Given the description of an element on the screen output the (x, y) to click on. 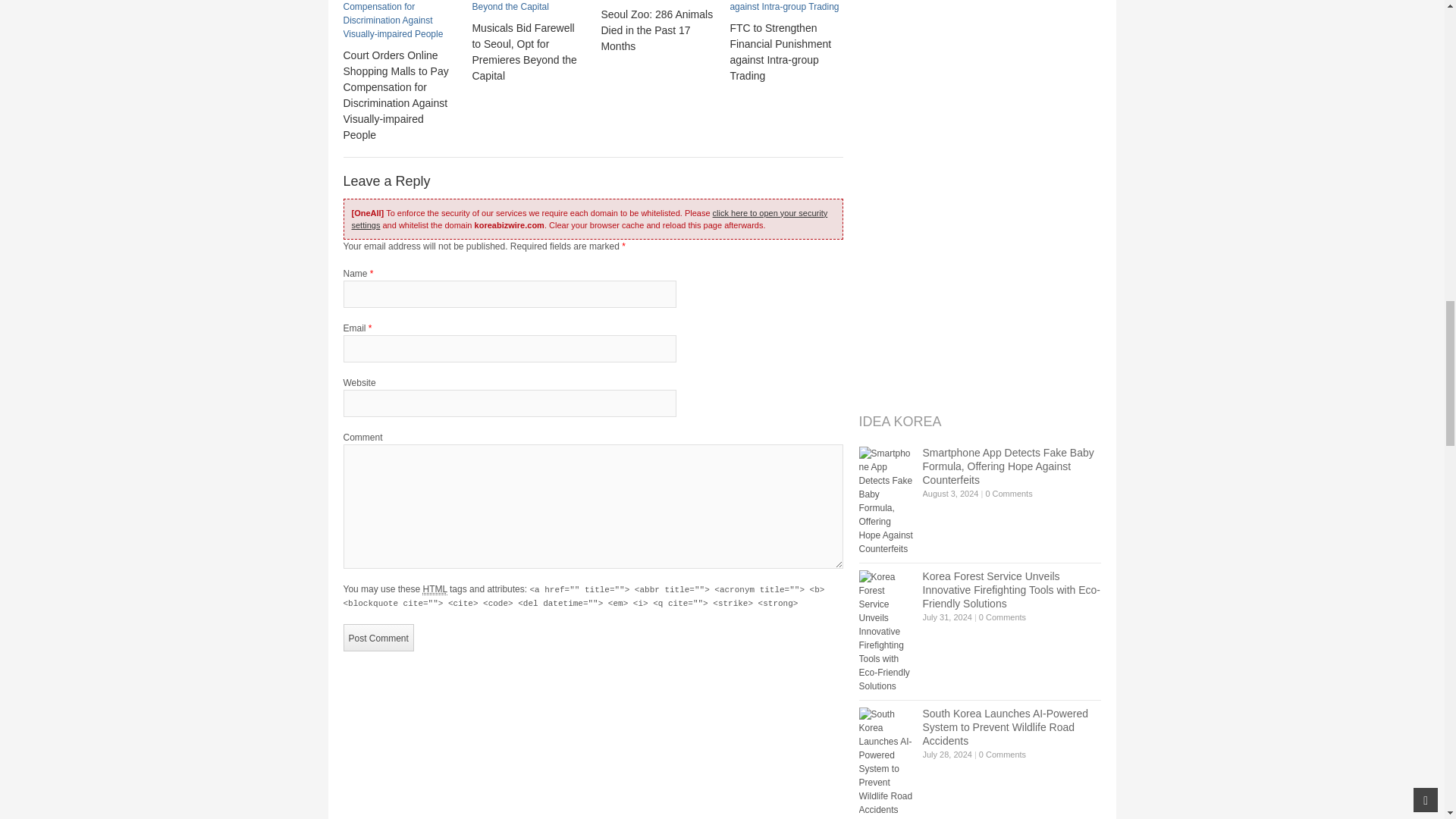
Post Comment (377, 637)
